Given the description of an element on the screen output the (x, y) to click on. 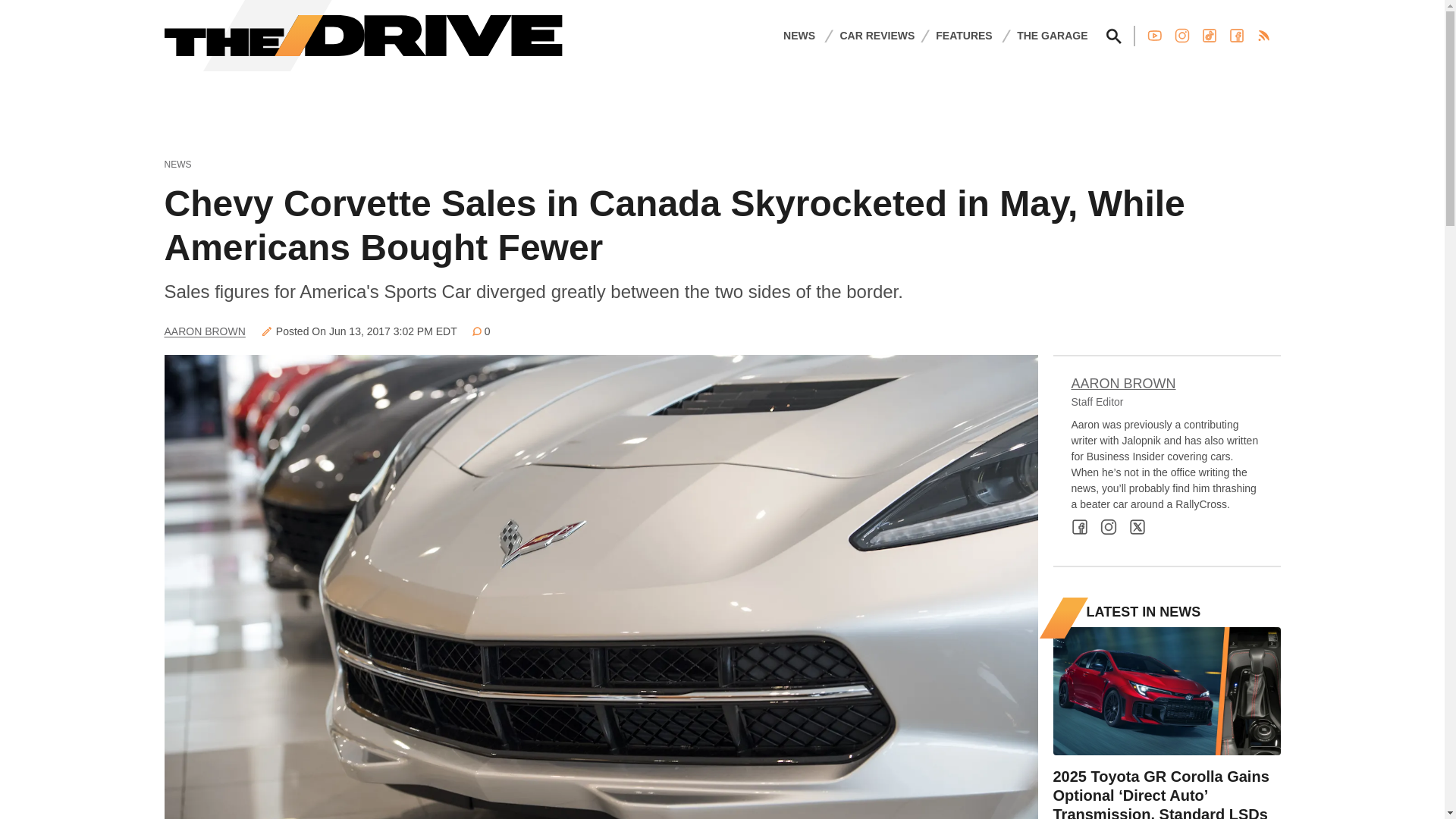
NEWS (799, 34)
